Given the description of an element on the screen output the (x, y) to click on. 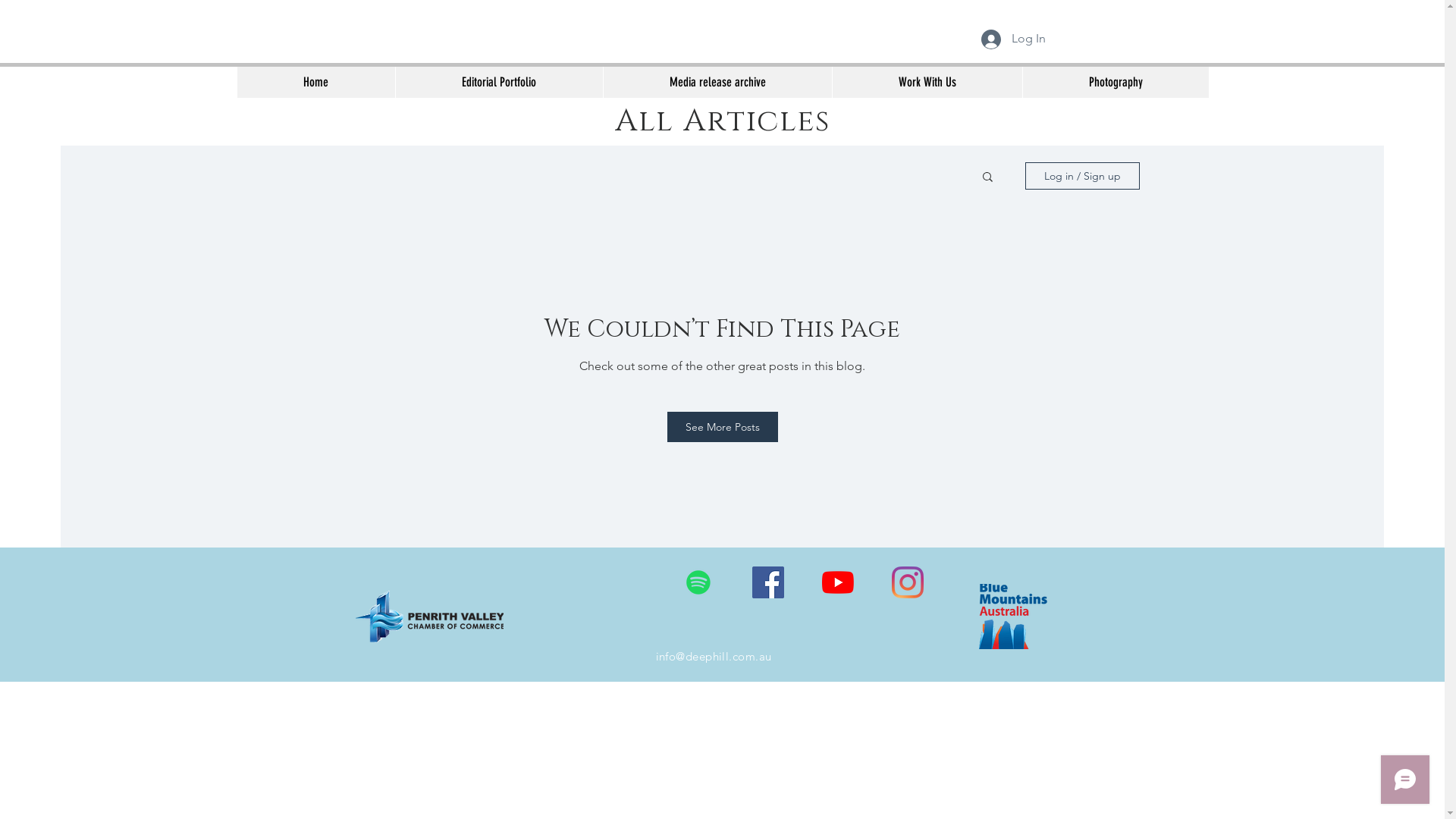
info@deephill.com.au Element type: text (713, 656)
Wix.com Element type: text (871, 689)
Photography Element type: text (1115, 81)
See More Posts Element type: text (722, 426)
Facebook Like Element type: hover (586, 582)
Log In Element type: text (1013, 38)
Editorial Portfolio Element type: text (498, 81)
Work With Us Element type: text (926, 81)
Home Element type: text (315, 81)
Log in / Sign up Element type: text (1082, 175)
Media release archive Element type: text (716, 81)
